Given the description of an element on the screen output the (x, y) to click on. 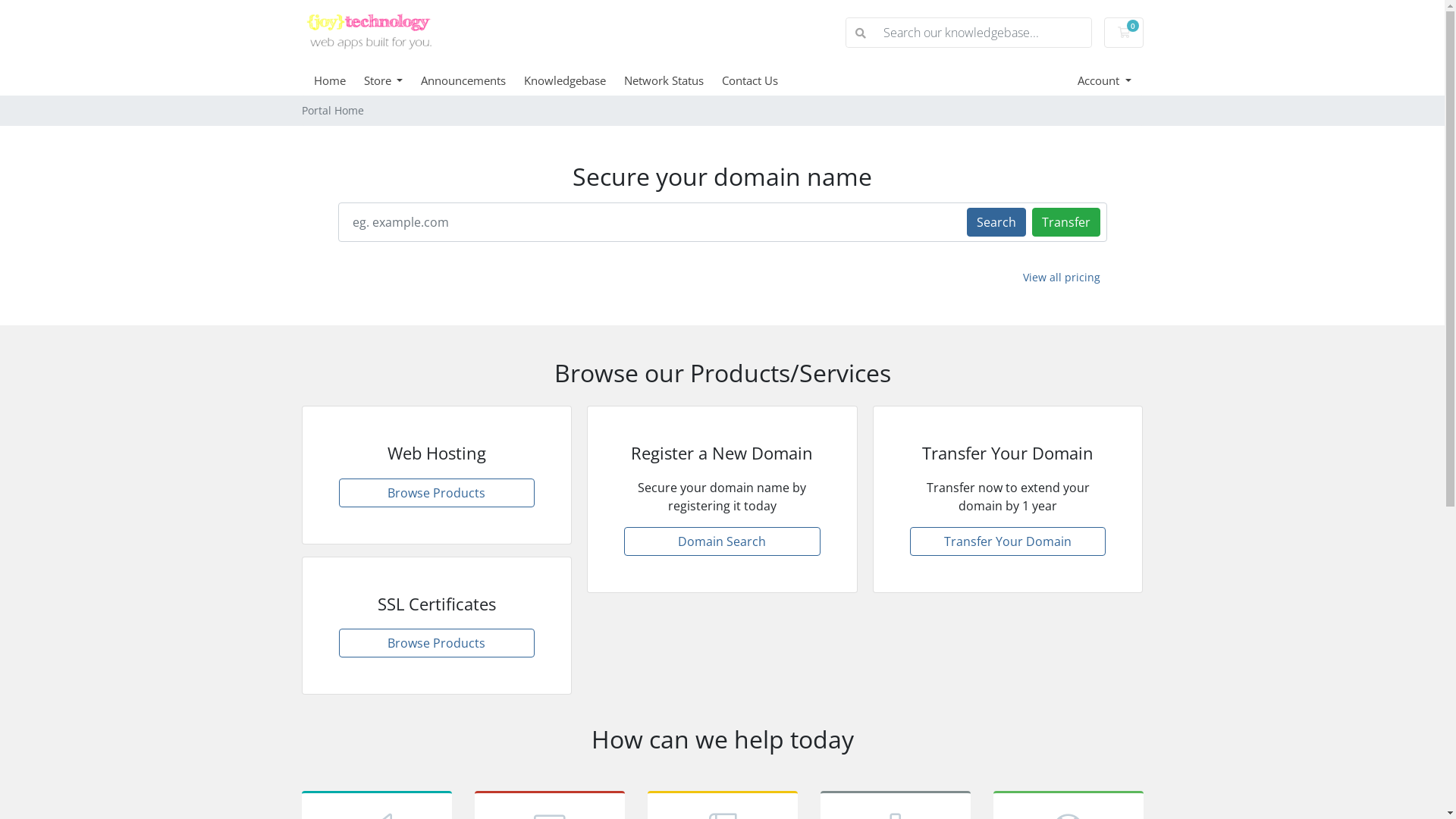
Network Status Element type: text (672, 79)
Browse Products Element type: text (436, 492)
View all pricing Element type: text (1061, 276)
Transfer Your Domain Element type: text (1008, 541)
Browse Products Element type: text (436, 642)
Search Element type: text (995, 221)
Contact Us Element type: text (758, 79)
Announcements Element type: text (472, 79)
Knowledgebase Element type: text (574, 79)
Home Element type: text (338, 79)
Account Element type: text (1104, 79)
Store Element type: text (392, 79)
0
Shopping Cart Element type: text (1123, 32)
Domain Search Element type: text (722, 541)
Transfer Element type: text (1065, 221)
